Given the description of an element on the screen output the (x, y) to click on. 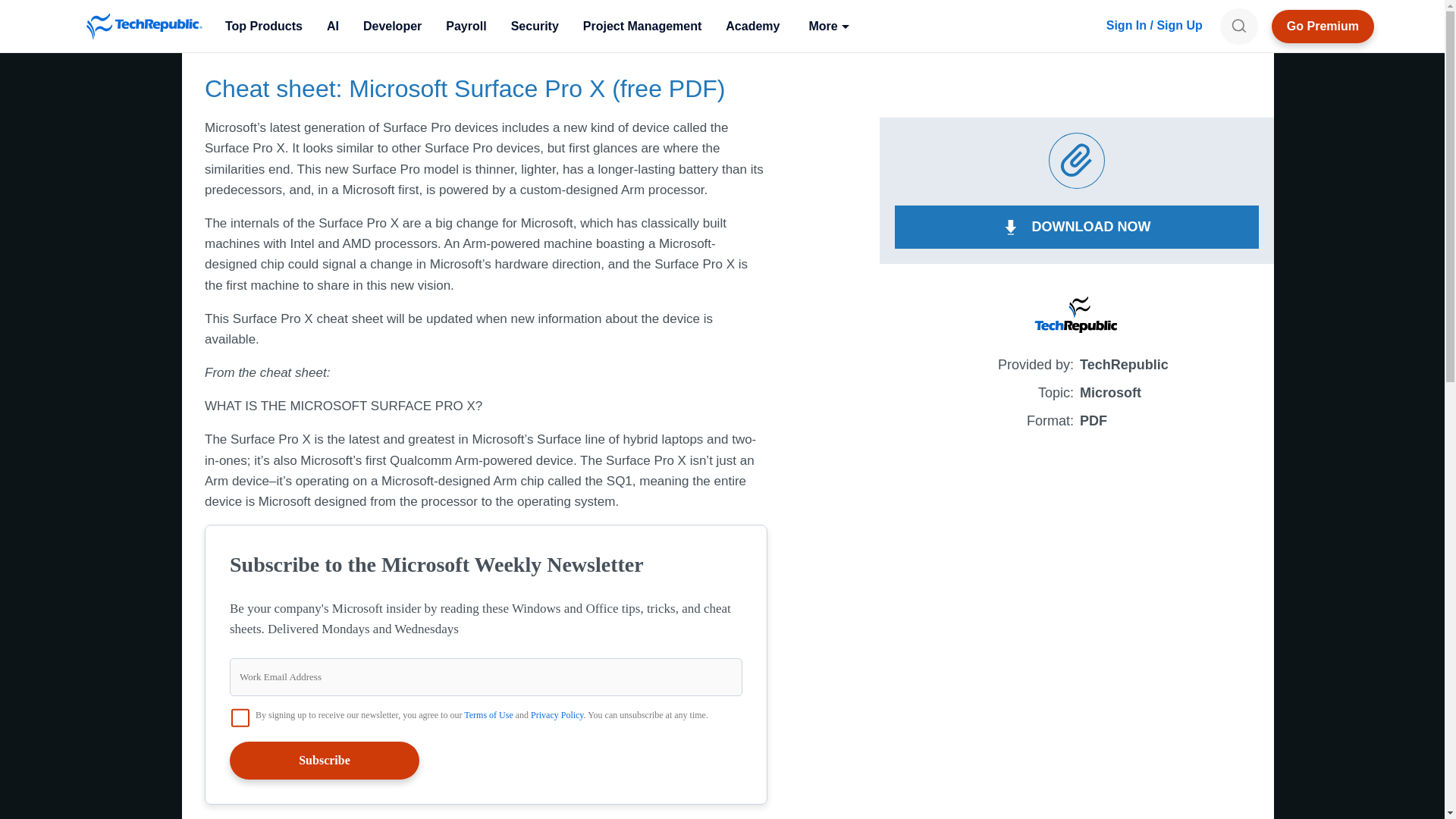
DOWNLOAD NOW (1077, 226)
Top Products (263, 26)
Payroll (465, 26)
Security (534, 26)
on (239, 717)
Developer (392, 26)
TechRepublic (143, 25)
TechRepublic Premium (1322, 25)
TechRepublic (143, 25)
TechRepublic (143, 25)
Go Premium (1322, 25)
Terms of Use (488, 715)
Project Management (641, 26)
Privacy Policy (557, 715)
Subscribe (324, 760)
